Given the description of an element on the screen output the (x, y) to click on. 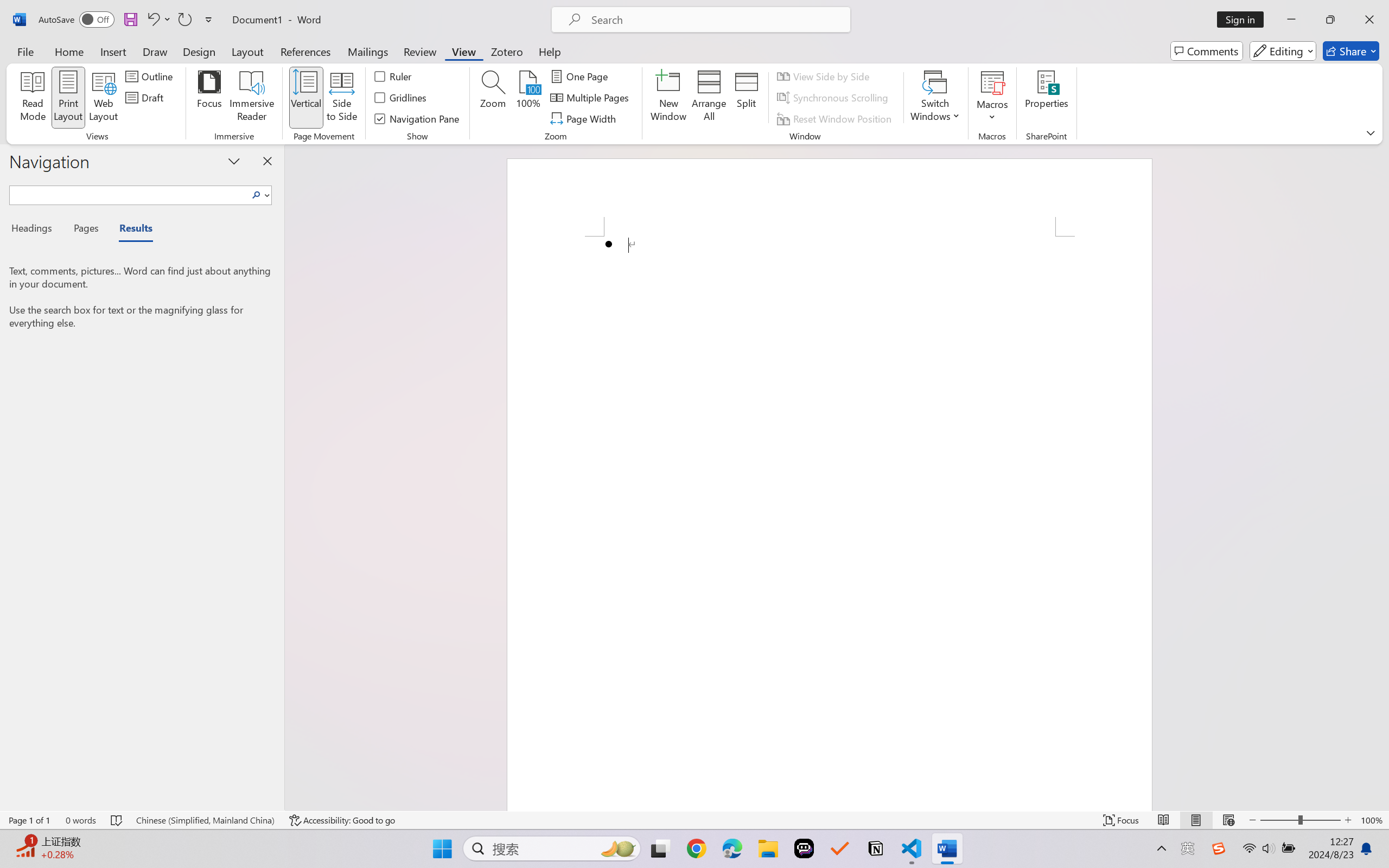
New Window (668, 97)
Undo Bullet Default (158, 19)
Zoom 100% (1372, 819)
Draft (146, 97)
Ruler (393, 75)
One Page (581, 75)
Results (130, 229)
Search document (128, 193)
